Given the description of an element on the screen output the (x, y) to click on. 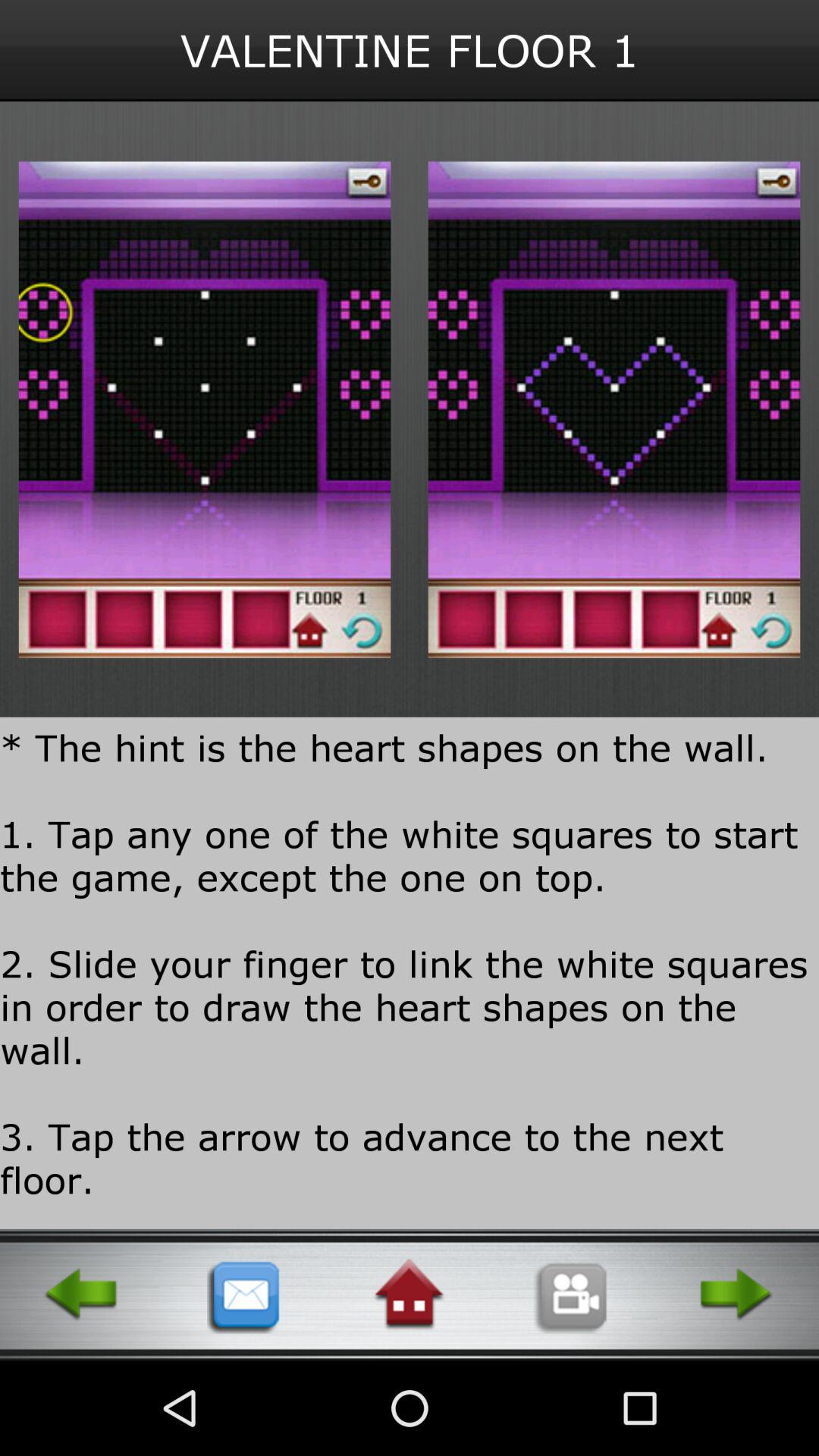
go back option (81, 1294)
